Given the description of an element on the screen output the (x, y) to click on. 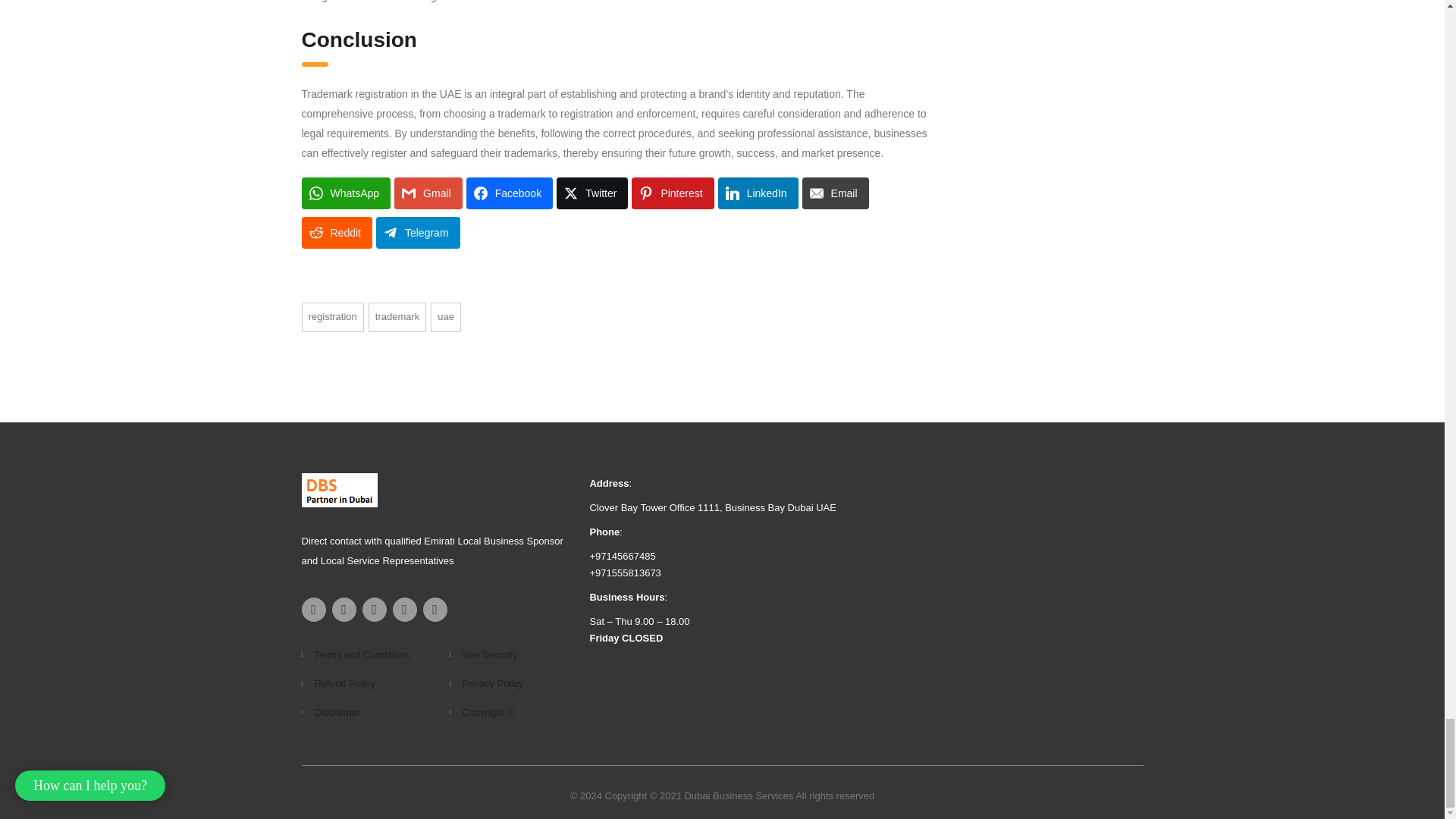
trademark (397, 317)
Email (835, 193)
Pinterest (672, 193)
Twitter (591, 193)
Share on Facebook (509, 193)
WhatsApp (346, 193)
Share on Gmail (428, 193)
Telegram (417, 232)
registration (332, 317)
Gmail (428, 193)
Share on LinkedIn (757, 193)
Share on Email (835, 193)
Share on WhatsApp (346, 193)
Reddit (336, 232)
Share on Twitter (591, 193)
